Given the description of an element on the screen output the (x, y) to click on. 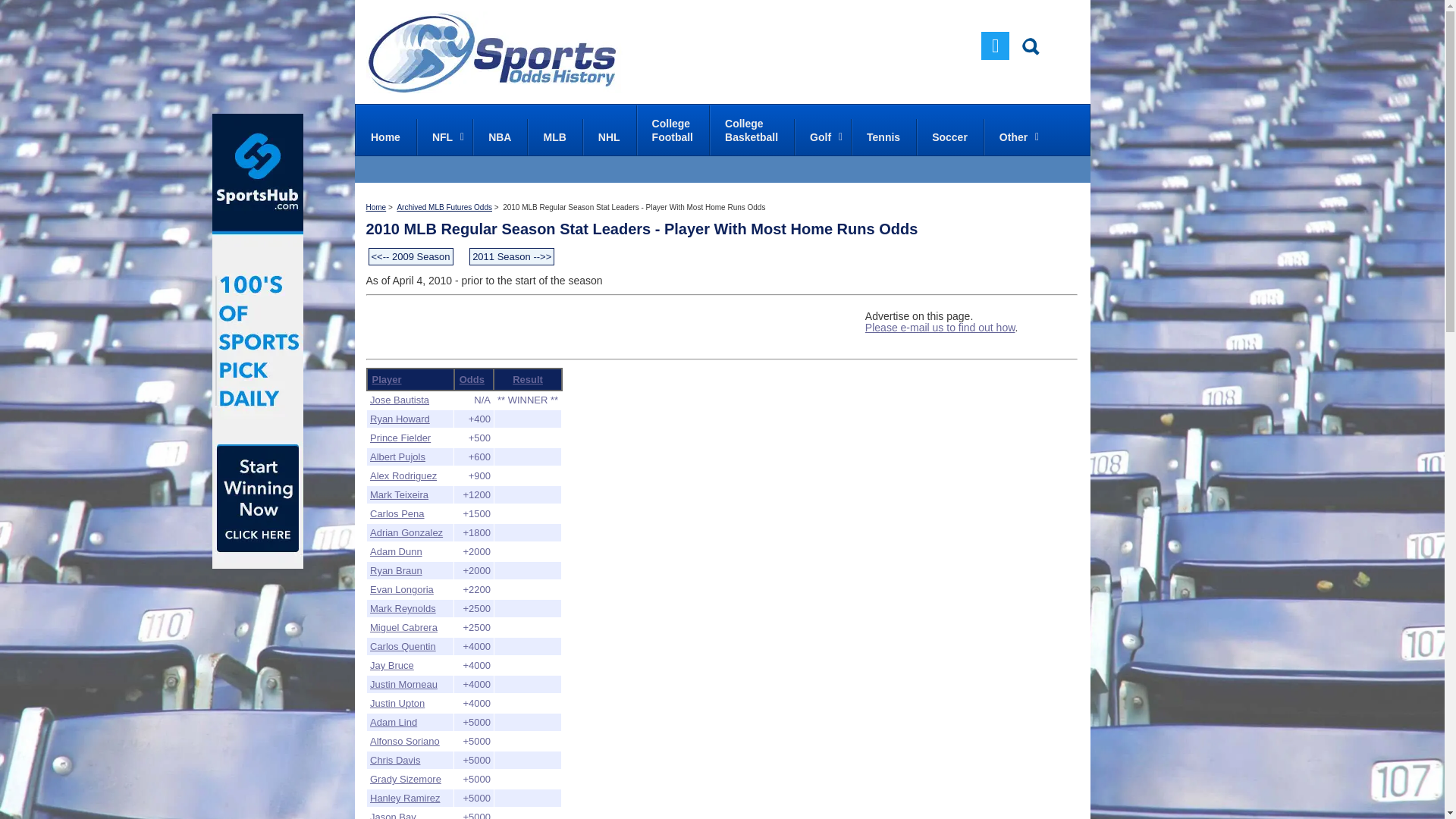
Other (1015, 136)
twitter (671, 129)
NFL (995, 45)
MLB (443, 136)
NBA (553, 136)
Soccer (498, 136)
Tennis (948, 136)
Advertisement (882, 136)
NHL (548, 325)
Golf (751, 129)
Home (608, 136)
